Given the description of an element on the screen output the (x, y) to click on. 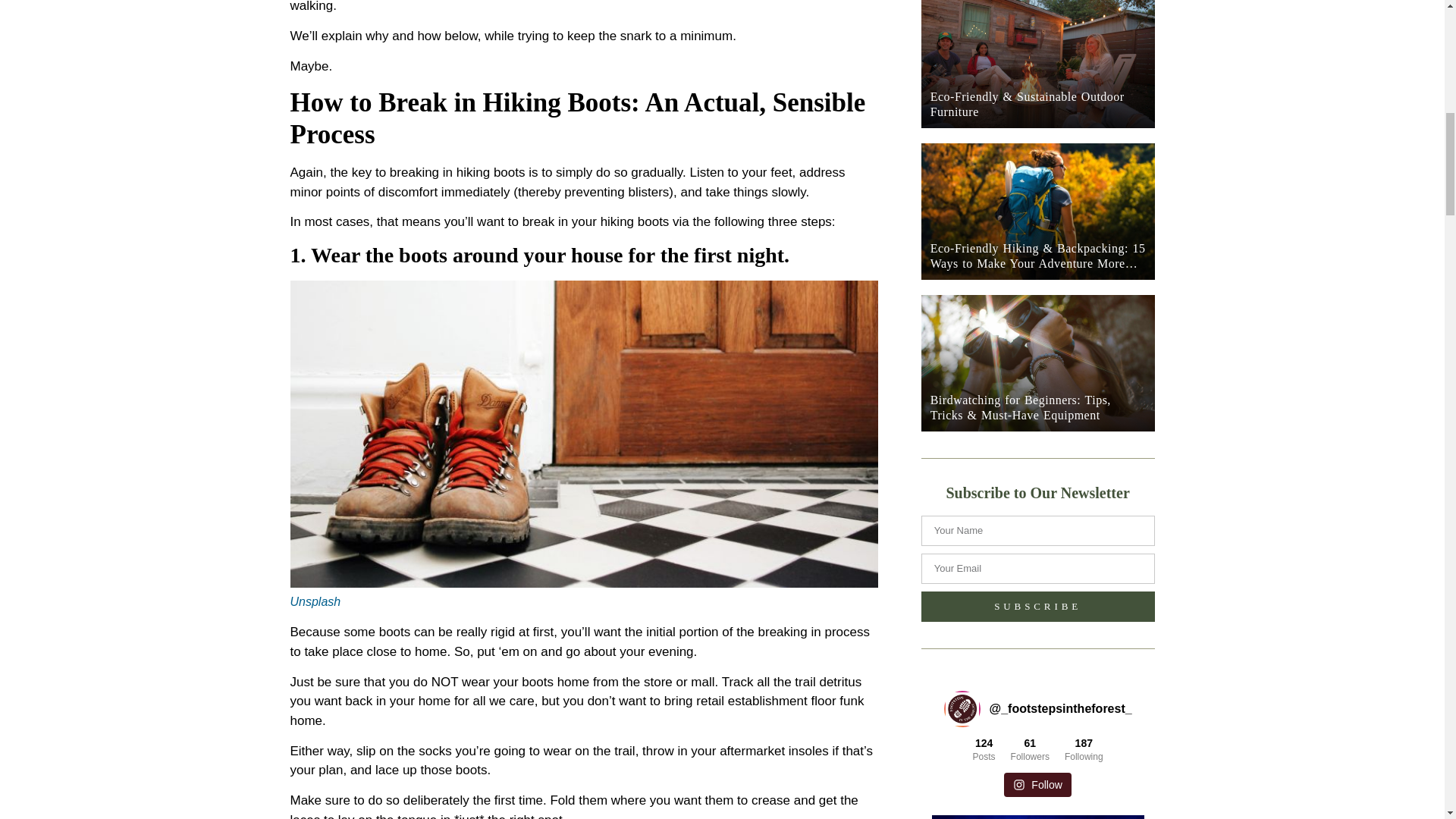
Unsplash (314, 601)
Follow (1037, 784)
SUBSCRIBE (1037, 606)
